Given the description of an element on the screen output the (x, y) to click on. 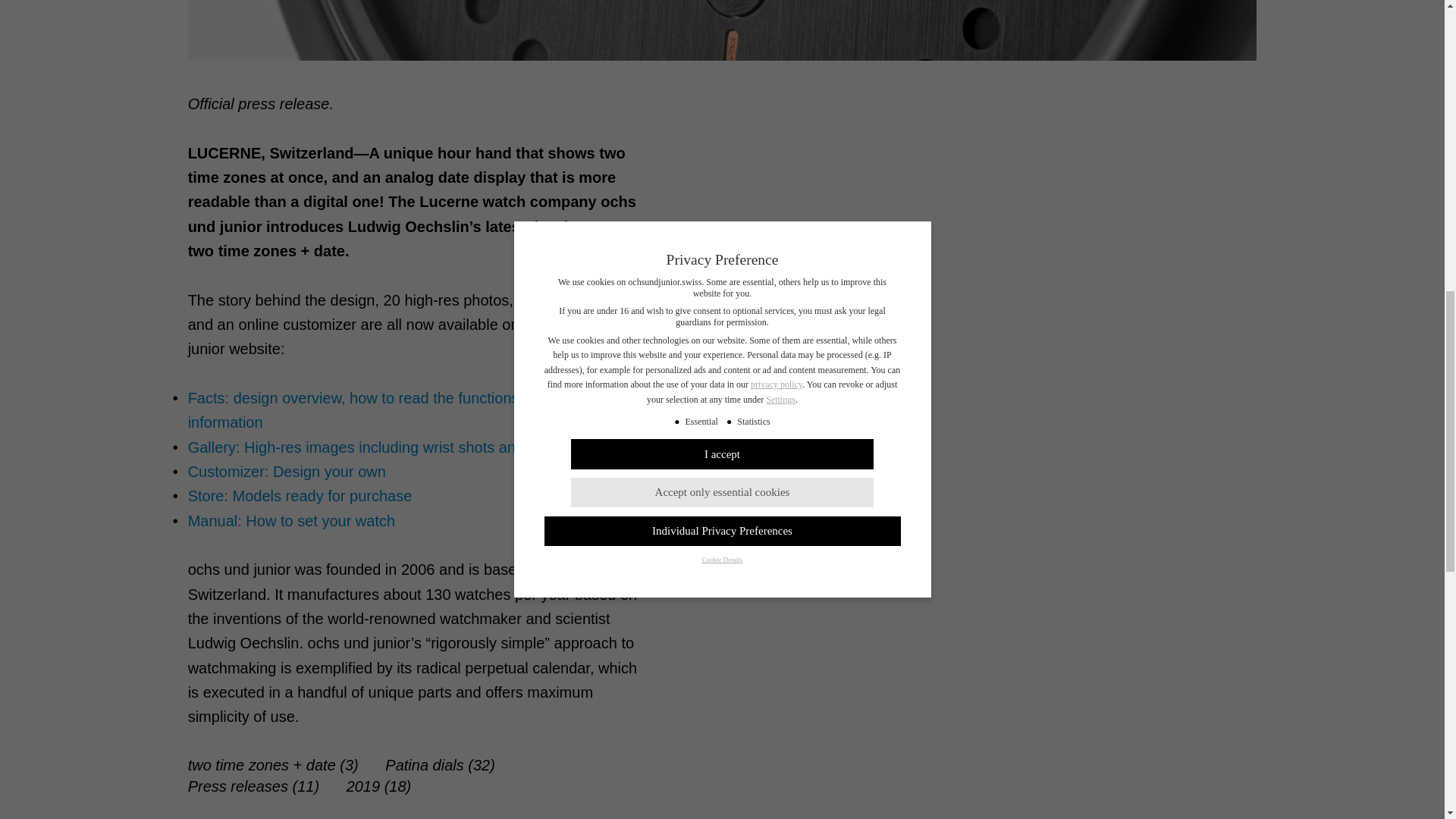
Manual: How to set your watch (290, 520)
Store: Models ready for purchase (299, 495)
Customizer: Design your own (286, 471)
